Given the description of an element on the screen output the (x, y) to click on. 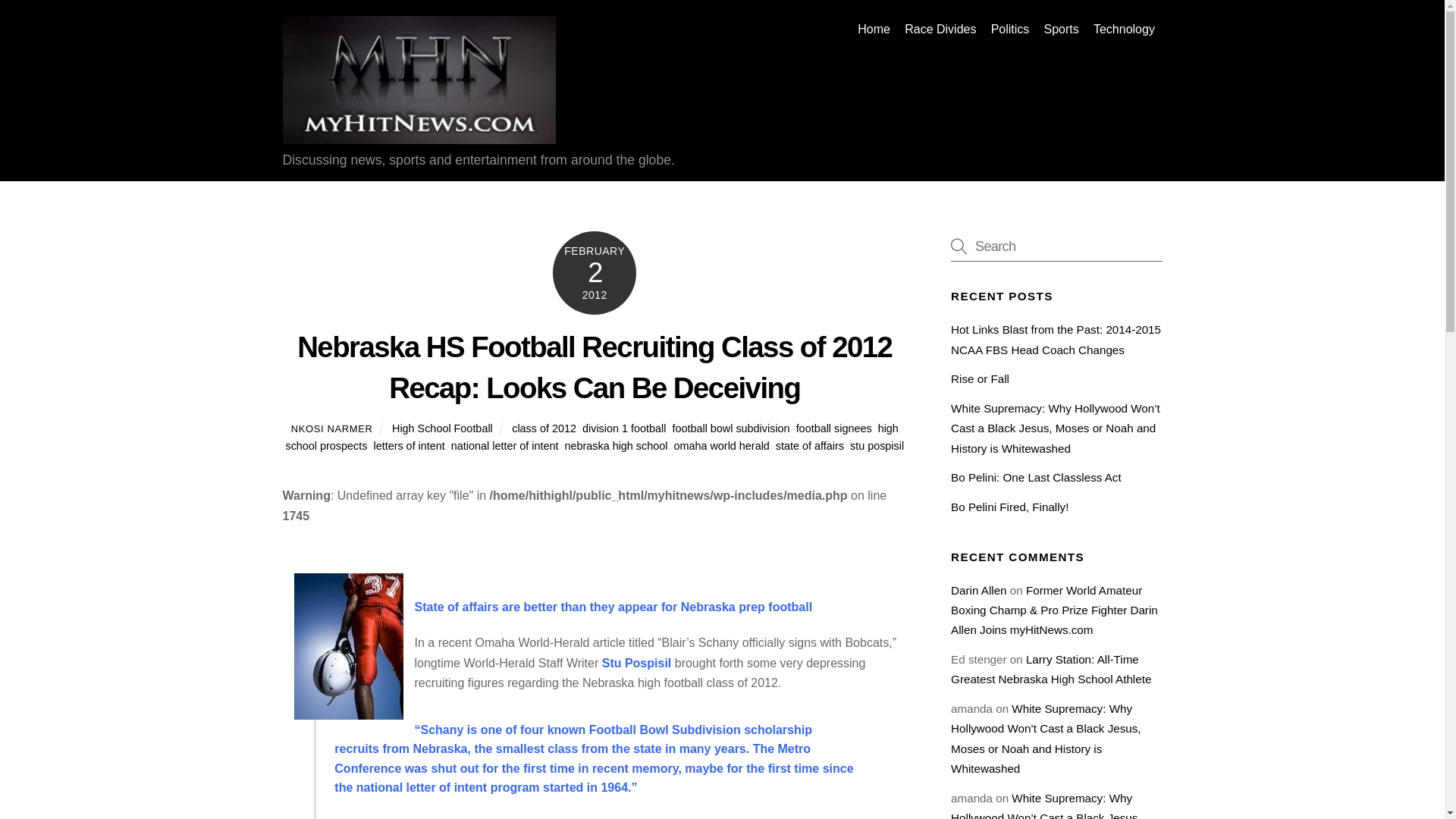
state of affairs (810, 445)
Technology (1123, 29)
national letter of intent (505, 445)
nebraska high school (615, 445)
Politics (1010, 29)
letters of intent (408, 445)
football signees (834, 428)
Home (874, 29)
myHitNews.com (418, 136)
NKOSI NARMER (331, 428)
